Given the description of an element on the screen output the (x, y) to click on. 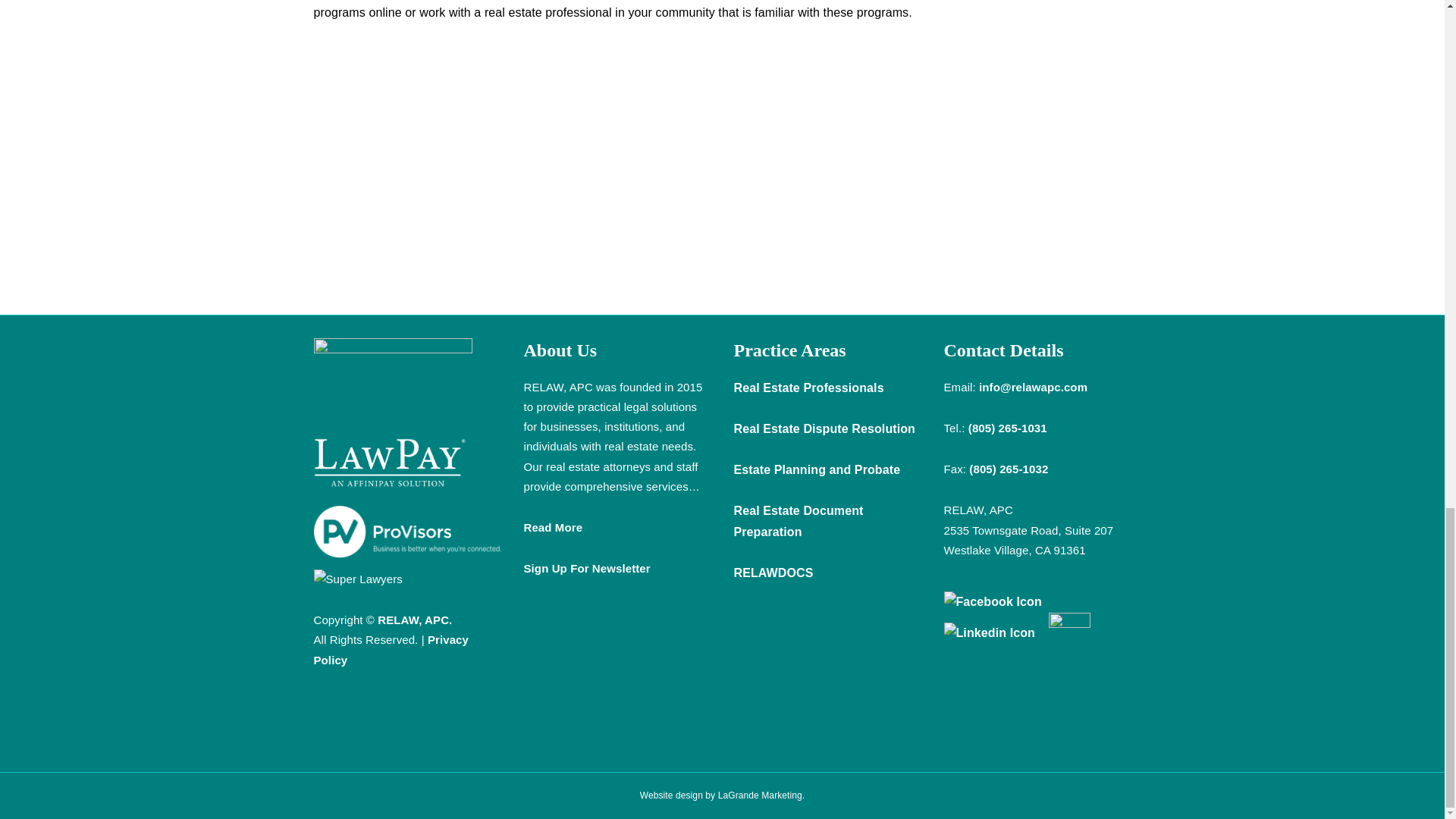
YouTube video player (721, 150)
